Given the description of an element on the screen output the (x, y) to click on. 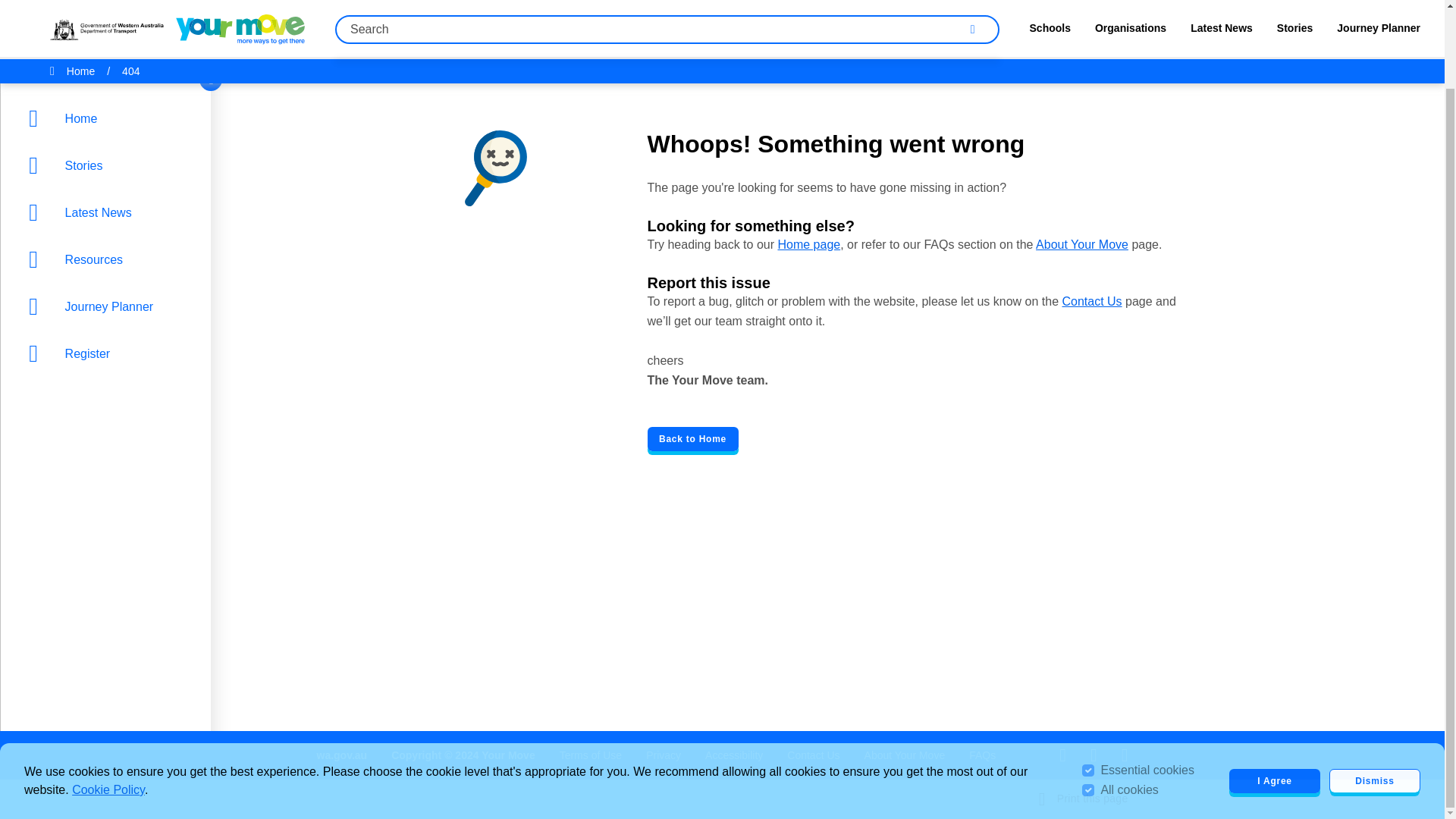
Privacy (663, 755)
wa.gov.au (342, 755)
Print this page (1083, 799)
Accessibility (733, 755)
FAQs (982, 755)
Journey Planner (109, 218)
Stories (109, 77)
About Your Move (904, 755)
Register (109, 265)
Resources (109, 170)
Cookie Policy (107, 701)
Terms of Use (590, 755)
Latest News (109, 124)
Journey Planner (109, 218)
Back to Home (692, 438)
